Given the description of an element on the screen output the (x, y) to click on. 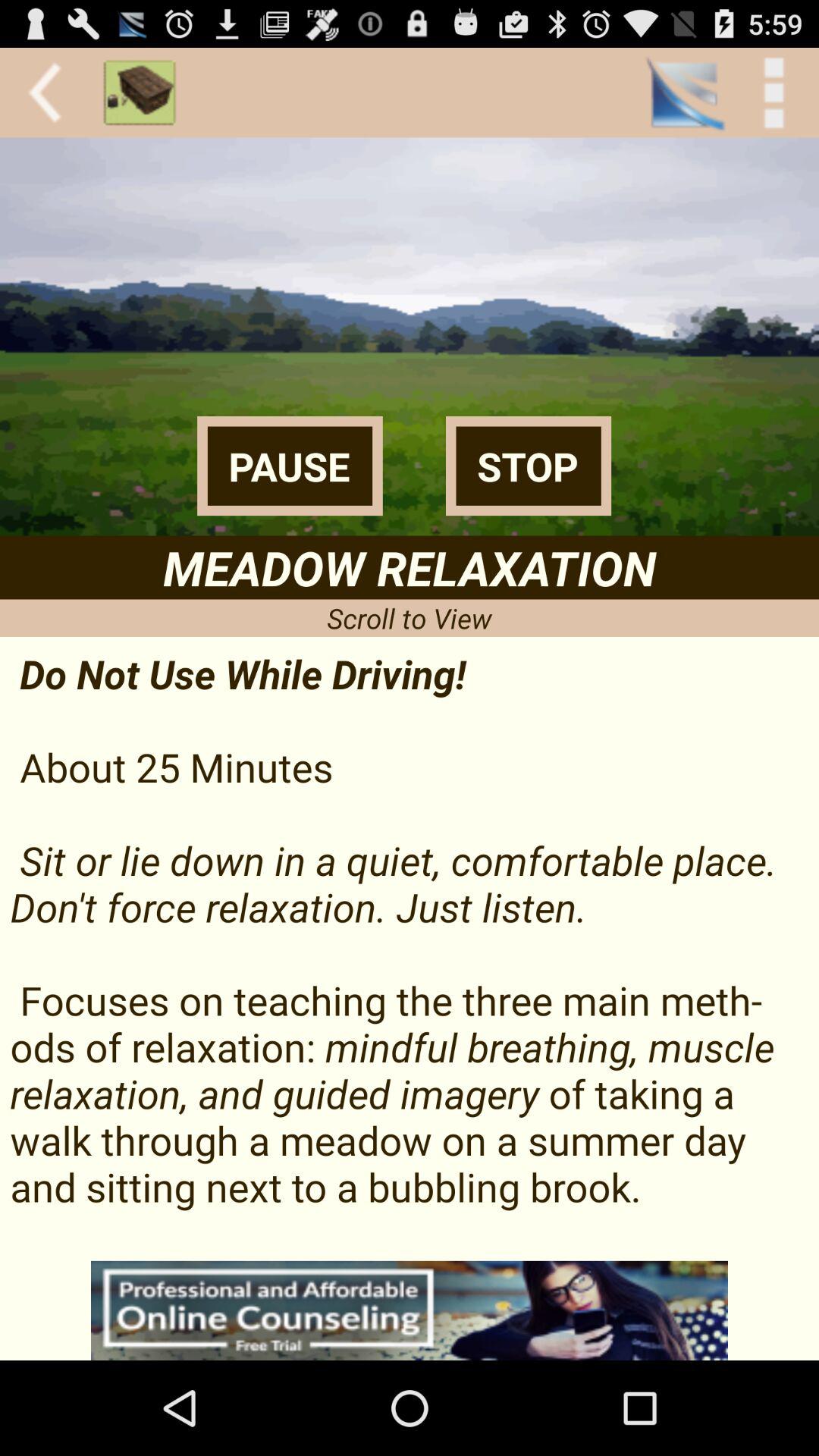
interact with advertisement (409, 1310)
